Given the description of an element on the screen output the (x, y) to click on. 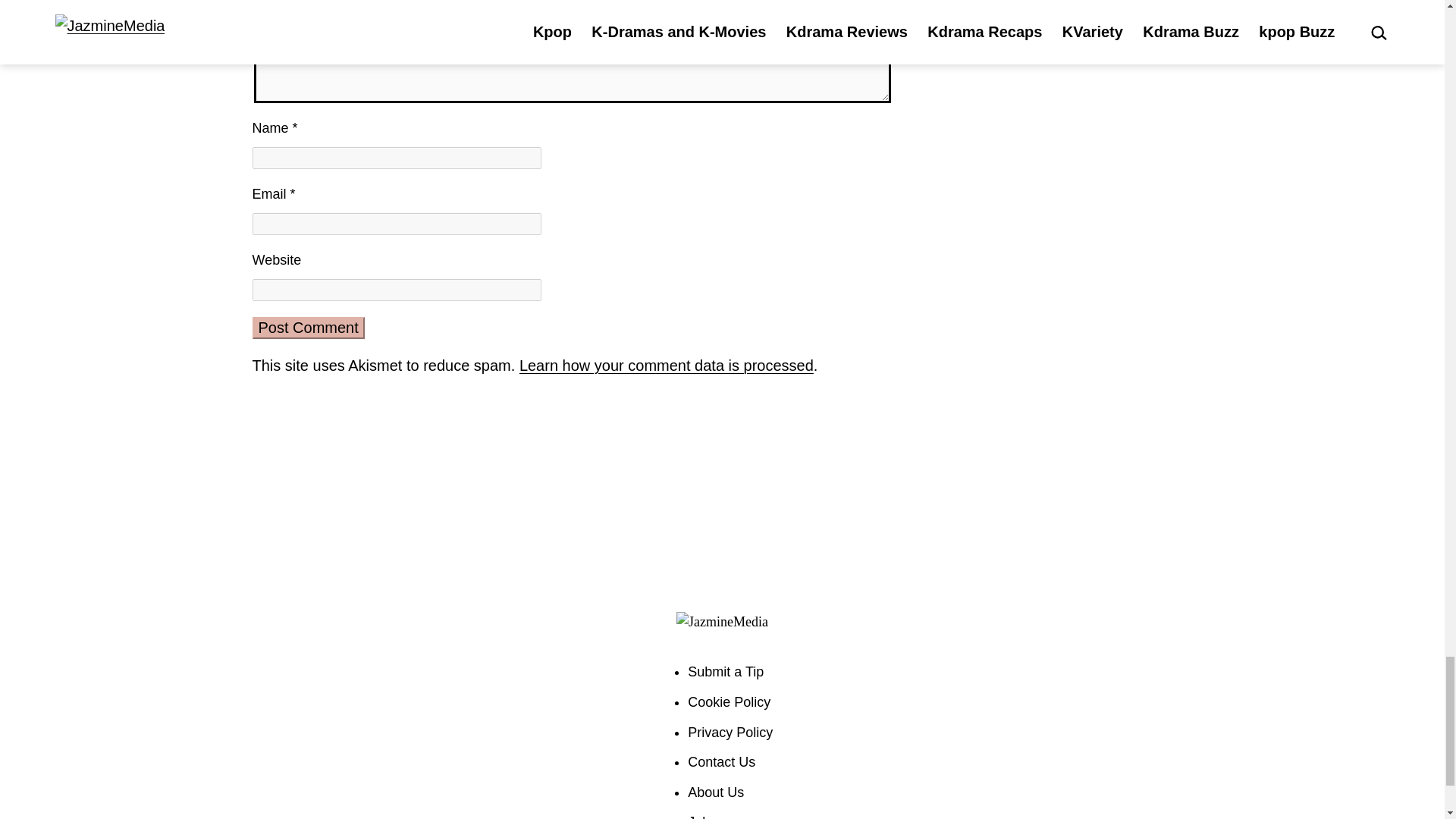
Post Comment (307, 327)
Post Comment (307, 327)
Cookie Policy (728, 702)
Submit a Tip (724, 671)
Learn how your comment data is processed (666, 365)
